Given the description of an element on the screen output the (x, y) to click on. 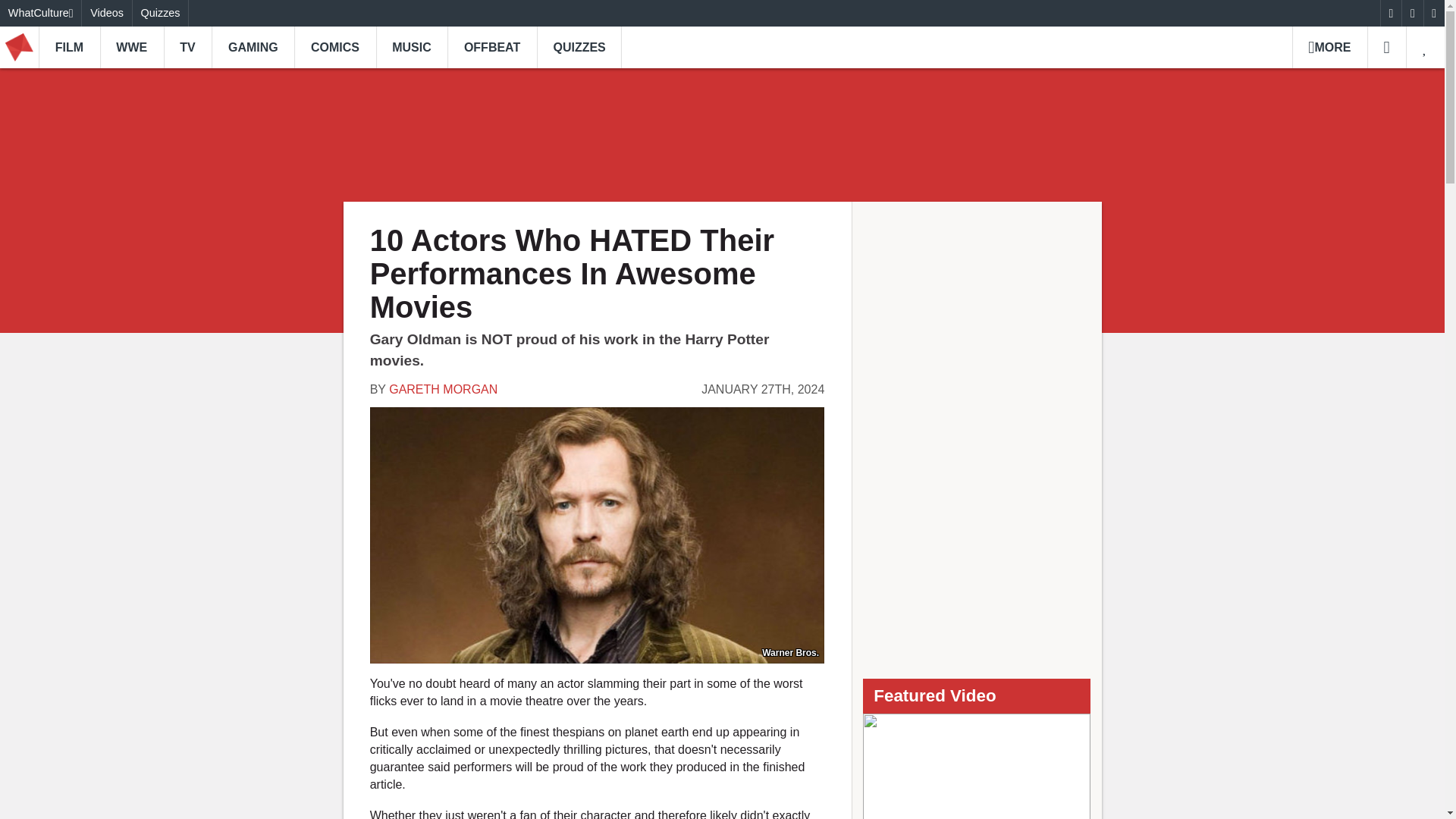
OFFBEAT (491, 46)
TV (187, 46)
Featured Video (976, 766)
COMICS (334, 46)
QUIZZES (580, 46)
GAMING (252, 46)
SEARCH (1386, 46)
MUSIC (411, 46)
Videos (106, 13)
Search (1386, 46)
